Given the description of an element on the screen output the (x, y) to click on. 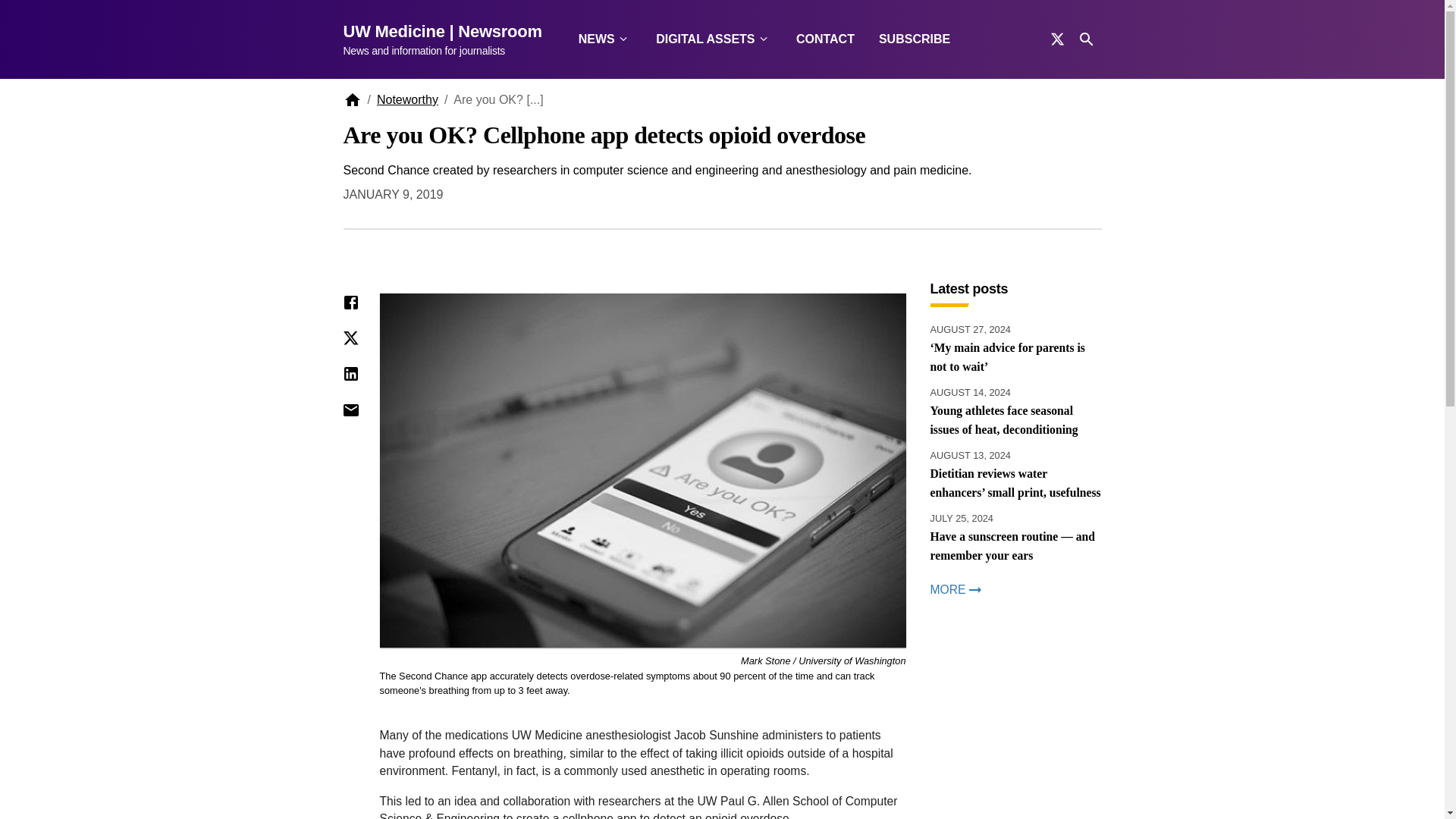
Go to start page (447, 38)
Noteworthy (407, 99)
DIGITAL ASSETS (713, 38)
CONTACT (825, 38)
SUBSCRIBE (914, 38)
Young athletes face seasonal issues of heat, deconditioning (1015, 420)
MORE (1015, 589)
NEWS (604, 38)
